Given the description of an element on the screen output the (x, y) to click on. 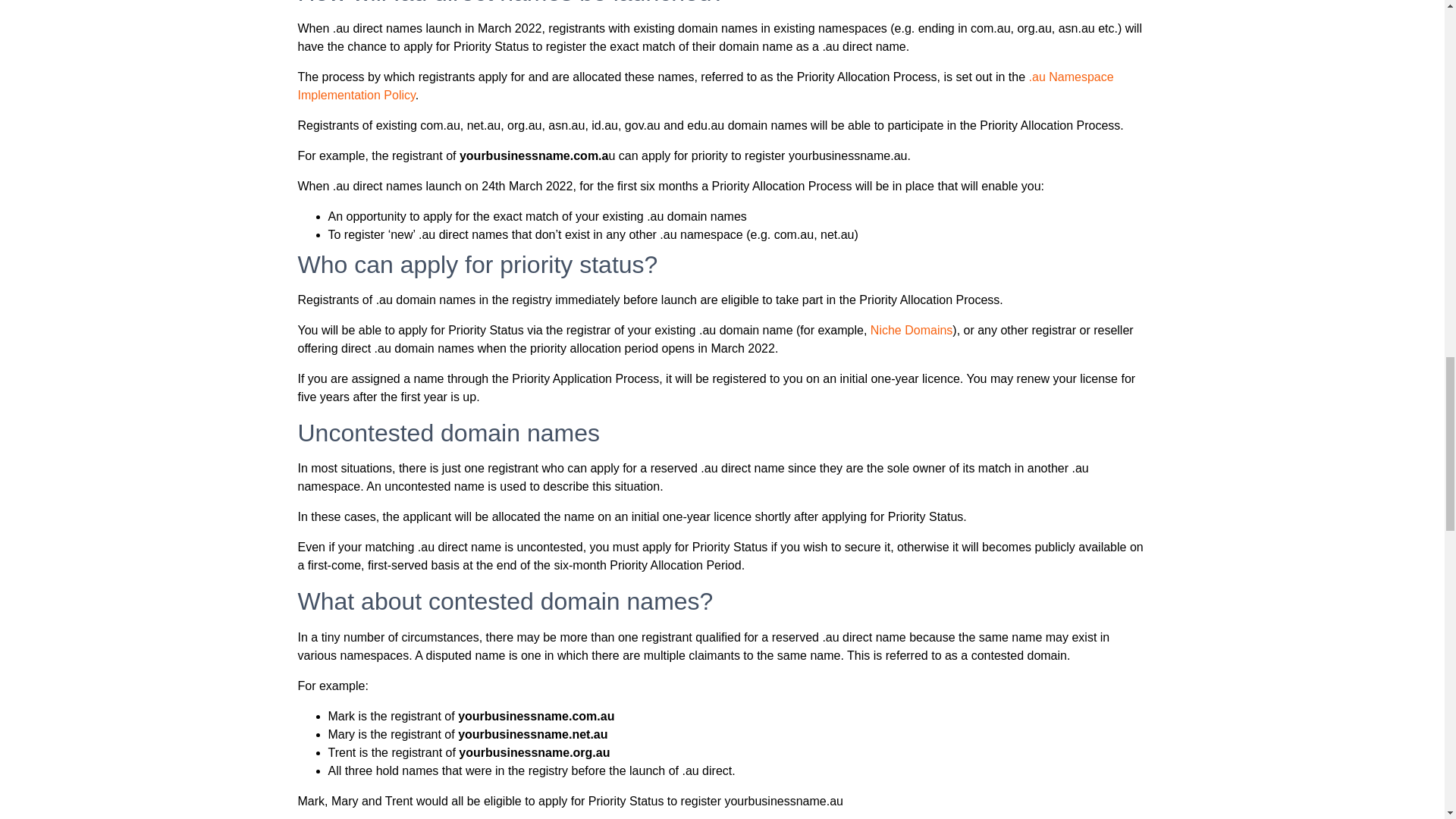
.au Namespace Implementation Policy (705, 85)
Niche Domains (911, 329)
